Given the description of an element on the screen output the (x, y) to click on. 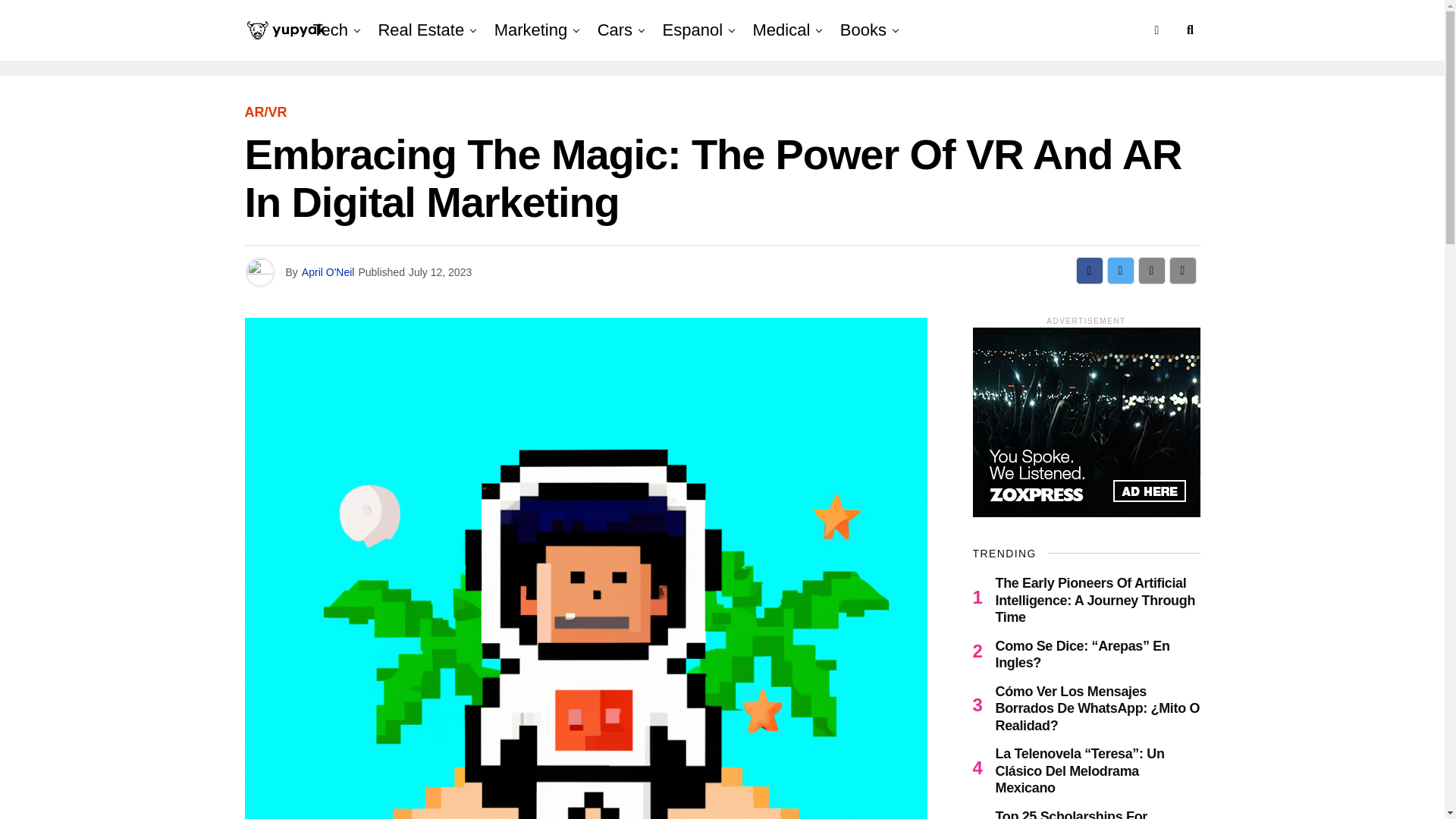
Real Estate (420, 30)
Tweet This Post (1120, 270)
Espanol (692, 30)
Marketing (530, 30)
Share on Facebook (1088, 270)
Posts by April O'Neil (328, 272)
Tech (334, 30)
Cars (614, 30)
